Given the description of an element on the screen output the (x, y) to click on. 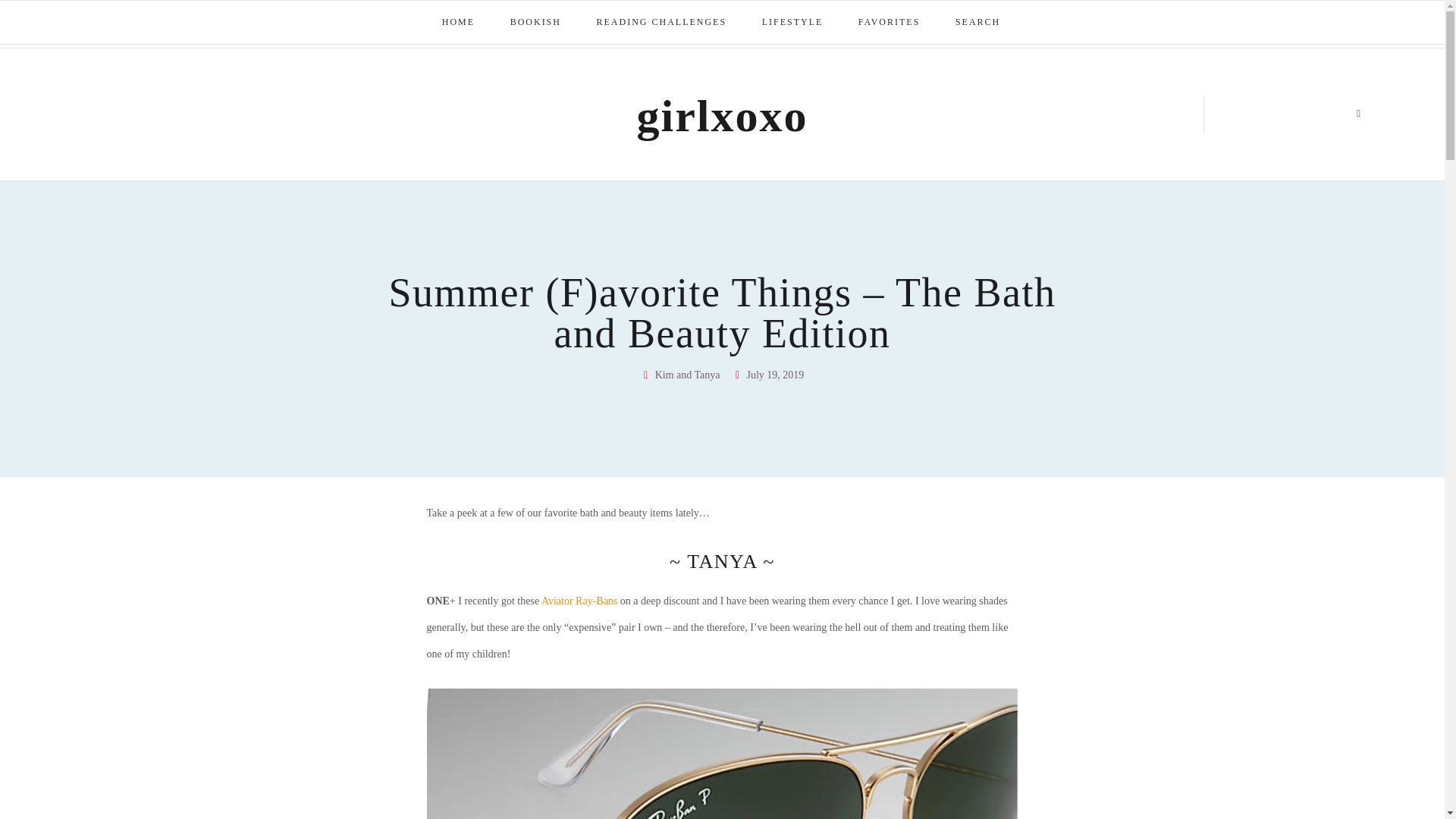
FAVORITES (890, 22)
July 19, 2019 (768, 375)
READING CHALLENGES (662, 22)
HOME (459, 22)
Kim and Tanya (680, 375)
SEARCH (978, 22)
Aviator Ray-Bans (579, 600)
BOOKISH (536, 22)
girlxoxo (722, 115)
LIFESTYLE (793, 22)
